Given the description of an element on the screen output the (x, y) to click on. 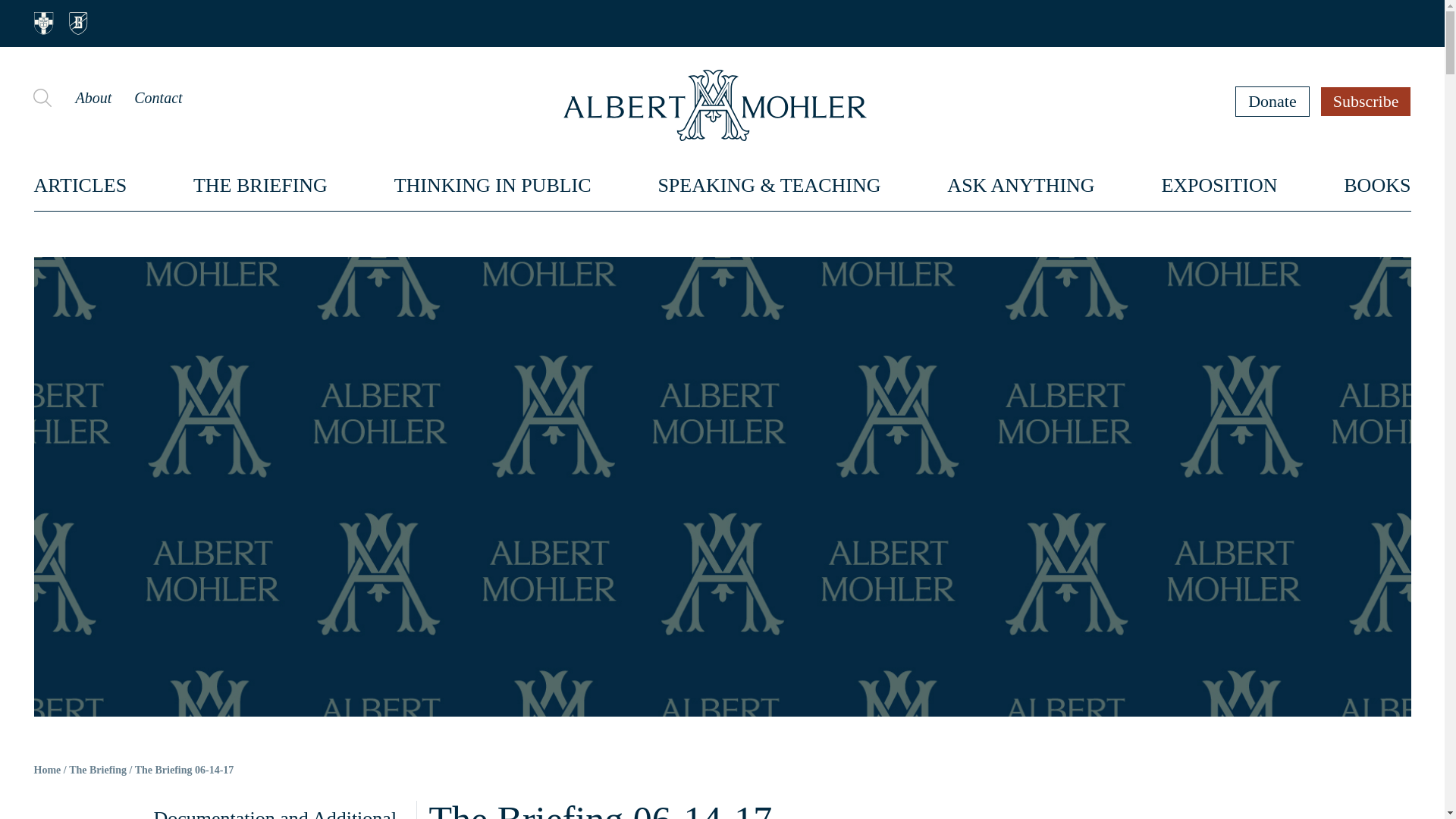
BOOKS (1376, 185)
ARTICLES (79, 185)
Donate (1272, 101)
Contact (157, 97)
EXPOSITION (1218, 185)
ASK ANYTHING (1020, 185)
Subscribe (1366, 101)
The Briefing (97, 770)
THE BRIEFING (260, 185)
Home (47, 770)
About (93, 97)
THINKING IN PUBLIC (492, 185)
